Given the description of an element on the screen output the (x, y) to click on. 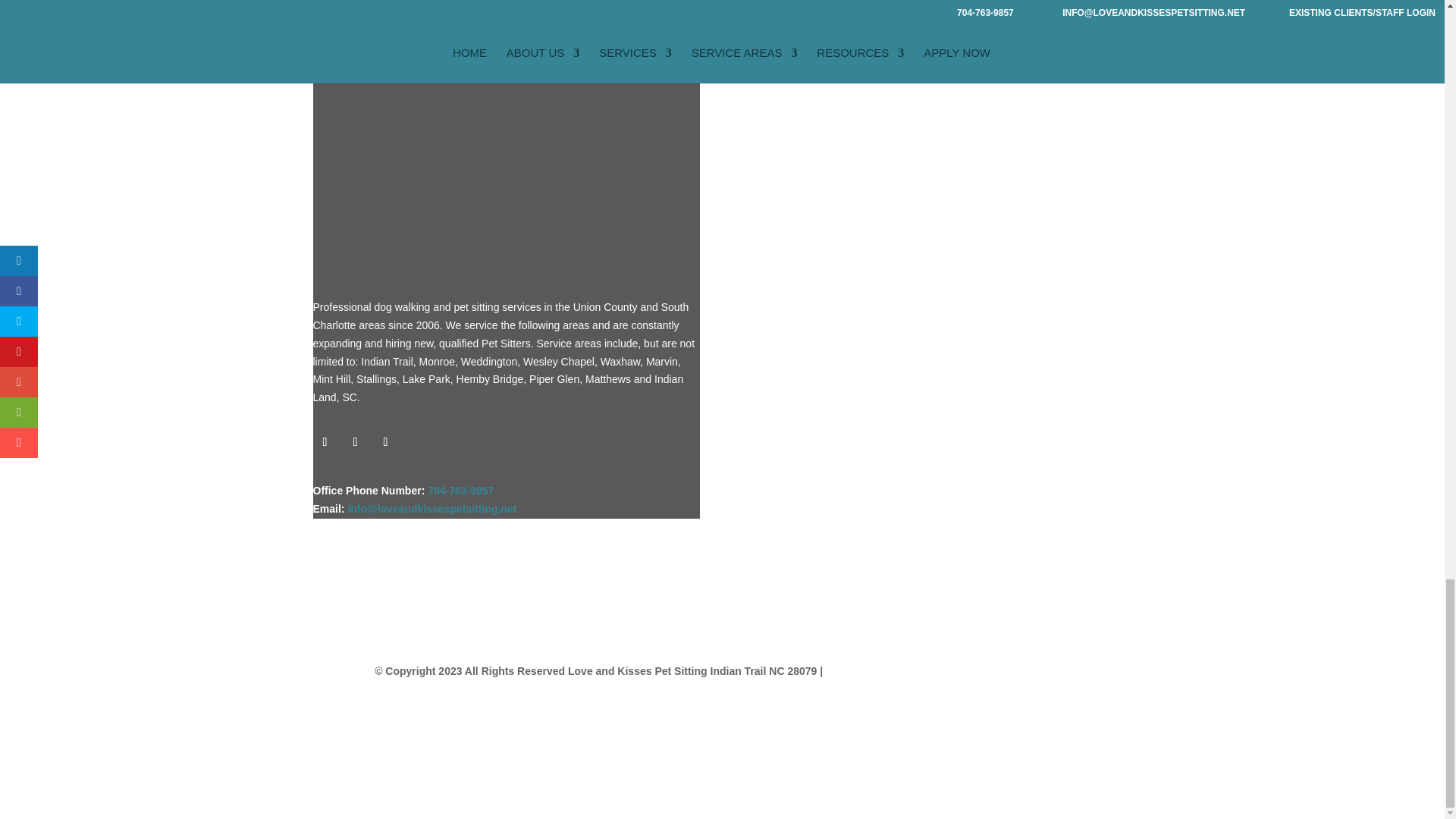
Follow on Facebook (324, 441)
Follow on Instagram (354, 441)
Love and Kisses Pet Sitting Logo Black (502, 138)
Follow on Youtube (384, 441)
